Given the description of an element on the screen output the (x, y) to click on. 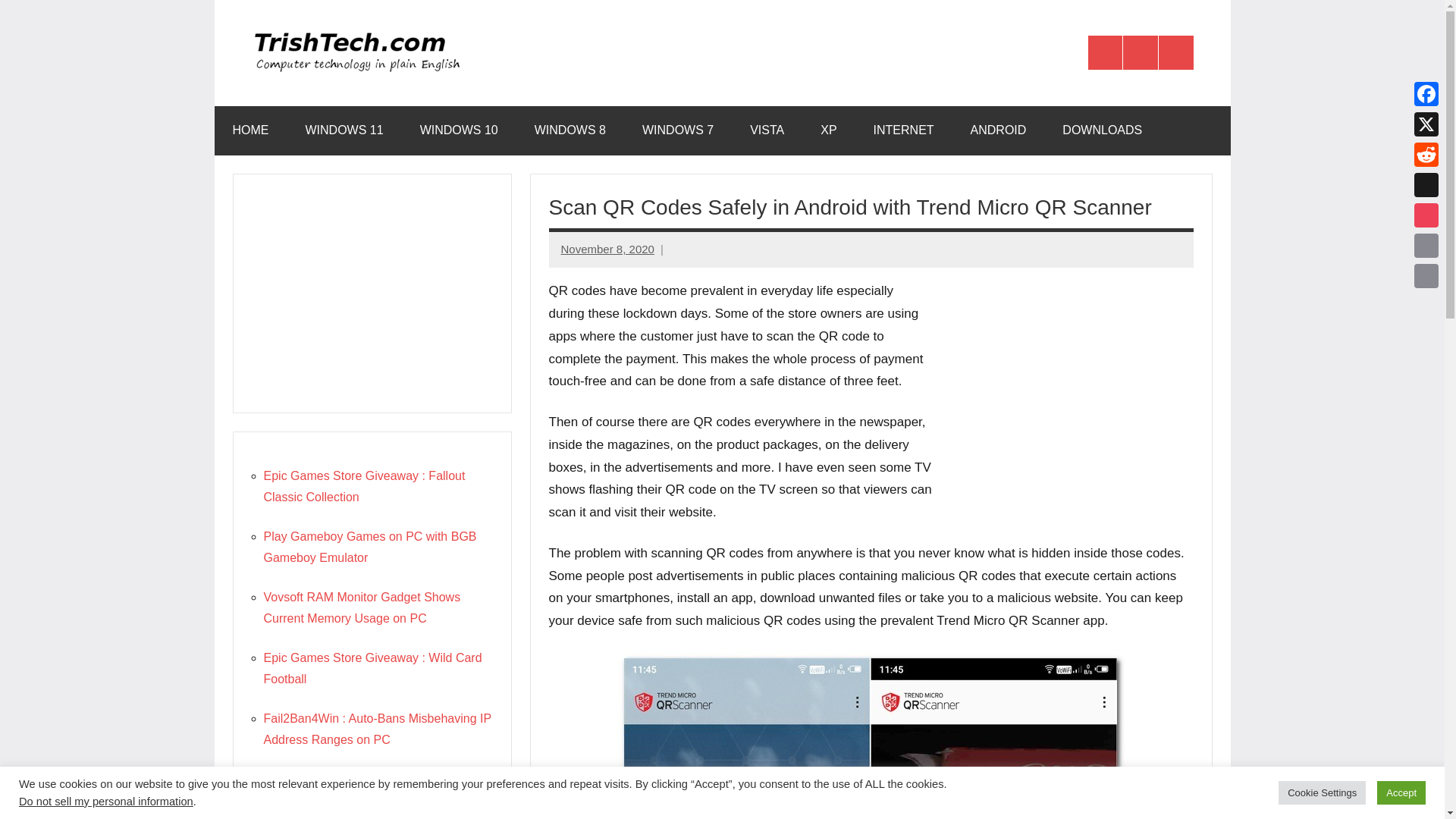
Fail2Ban4Win : Auto-Bans Misbehaving IP Address Ranges on PC (377, 728)
Email (1425, 276)
X (1425, 123)
WINDOWS 11 (343, 130)
WINDOWS 10 (458, 130)
Reddit (1425, 154)
Vovsoft RAM Monitor Gadget Shows Current Memory Usage on PC (362, 607)
Facebook (1425, 93)
November 8, 2020 (606, 248)
Play Gameboy Games on PC with BGB Gameboy Emulator (370, 546)
